Given the description of an element on the screen output the (x, y) to click on. 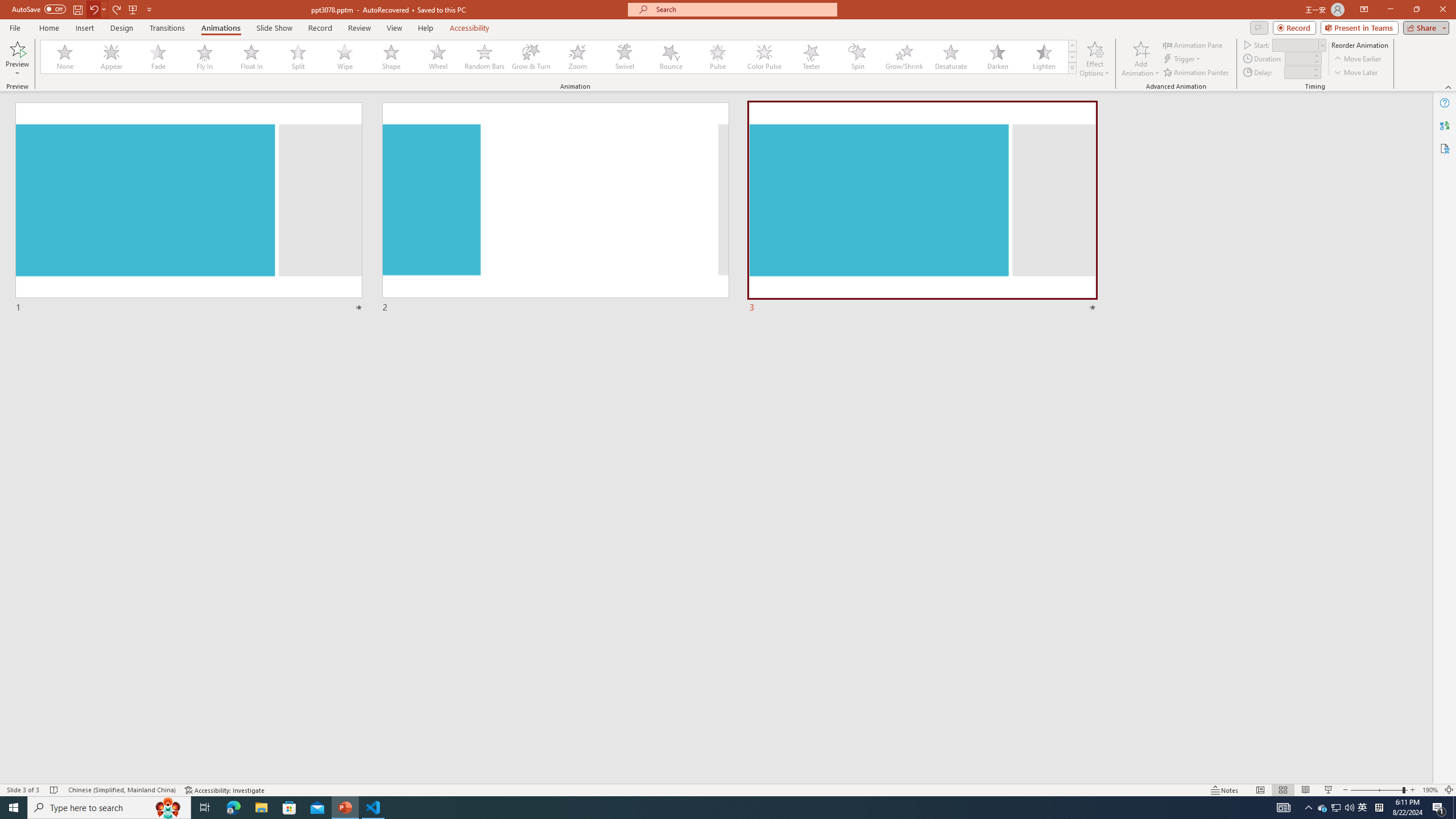
Wheel (437, 56)
Fade (158, 56)
Float In (251, 56)
Animation Delay (1297, 72)
Animation Pane (1193, 44)
Shape (391, 56)
Zoom 190% (1430, 790)
Color Pulse (764, 56)
Grow & Turn (531, 56)
